Given the description of an element on the screen output the (x, y) to click on. 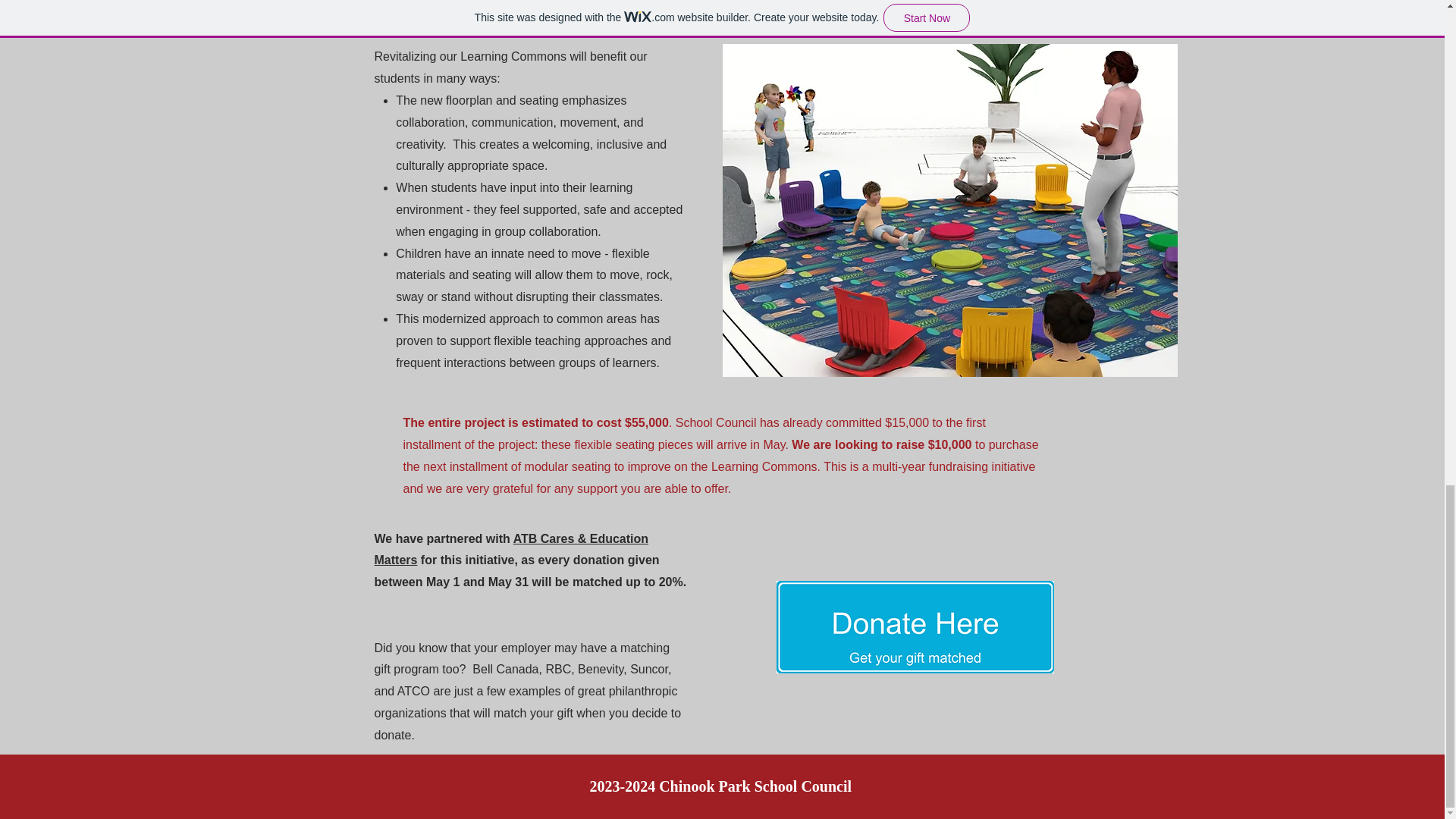
Contribution Button.png (915, 626)
